Given the description of an element on the screen output the (x, y) to click on. 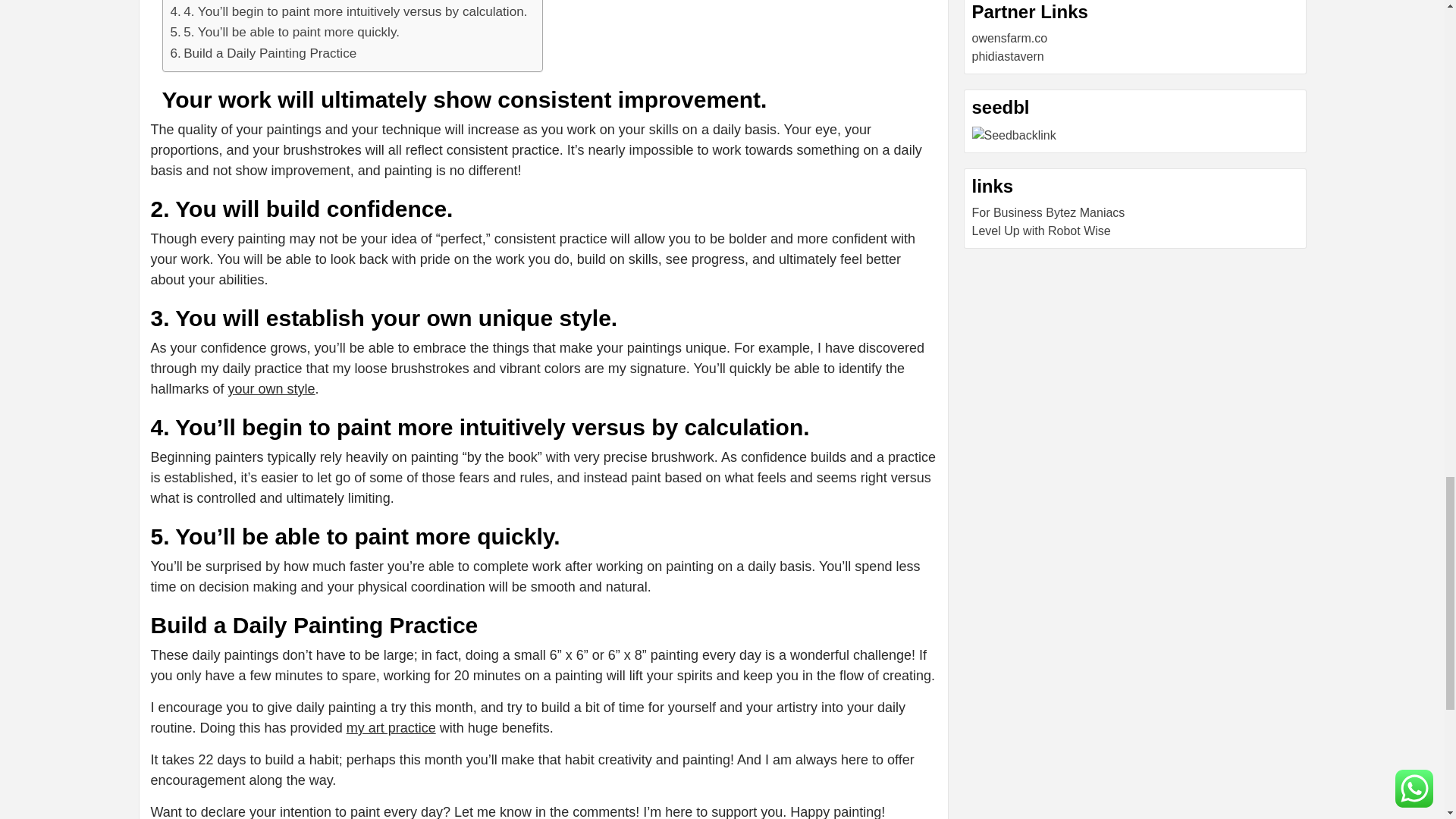
Build a Daily Painting Practice (263, 53)
Build a Daily Painting Practice (263, 53)
